Given the description of an element on the screen output the (x, y) to click on. 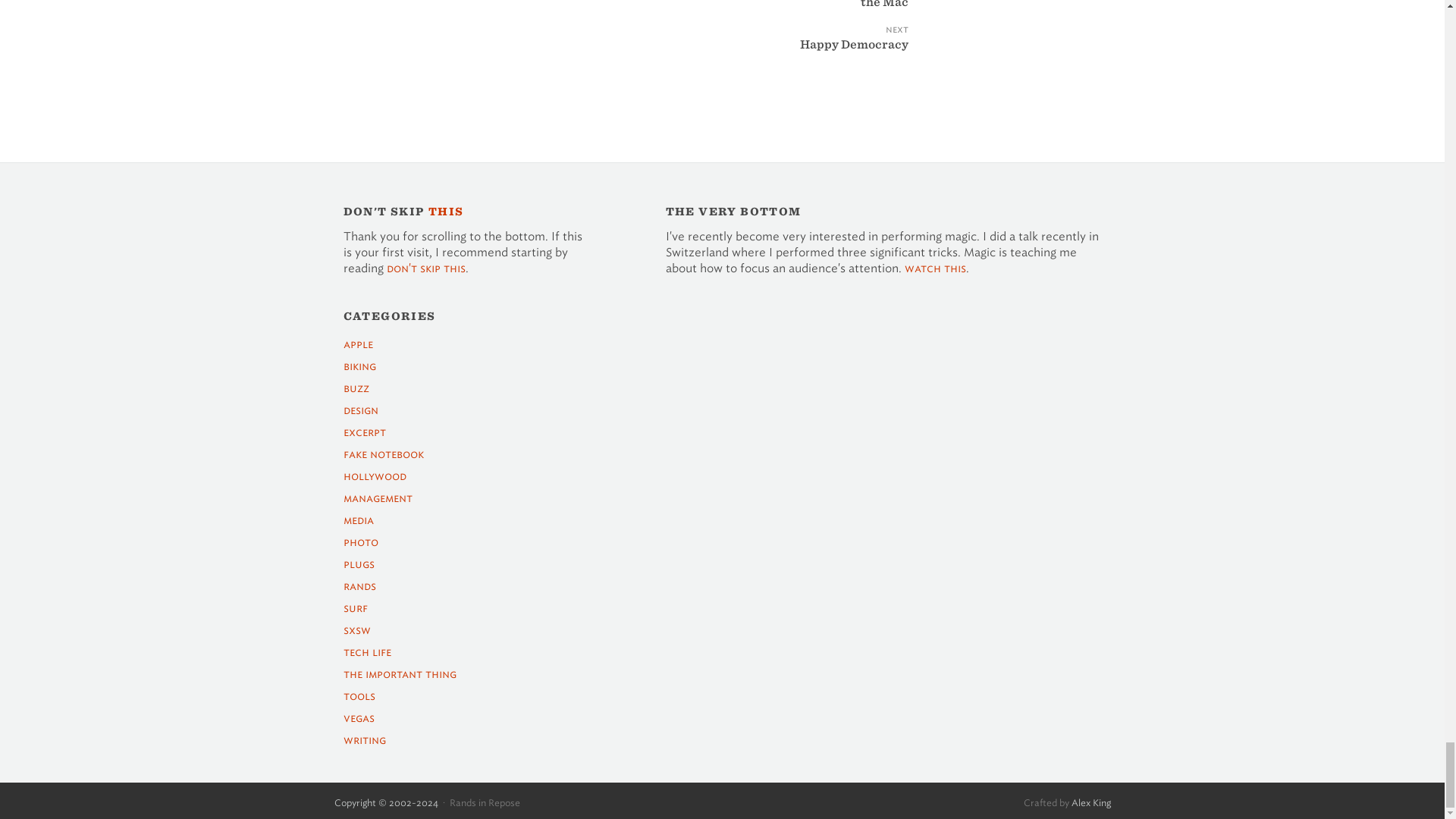
Happy Democracy (818, 54)
Silver Bullet: No Games for the Mac (818, 15)
